Given the description of an element on the screen output the (x, y) to click on. 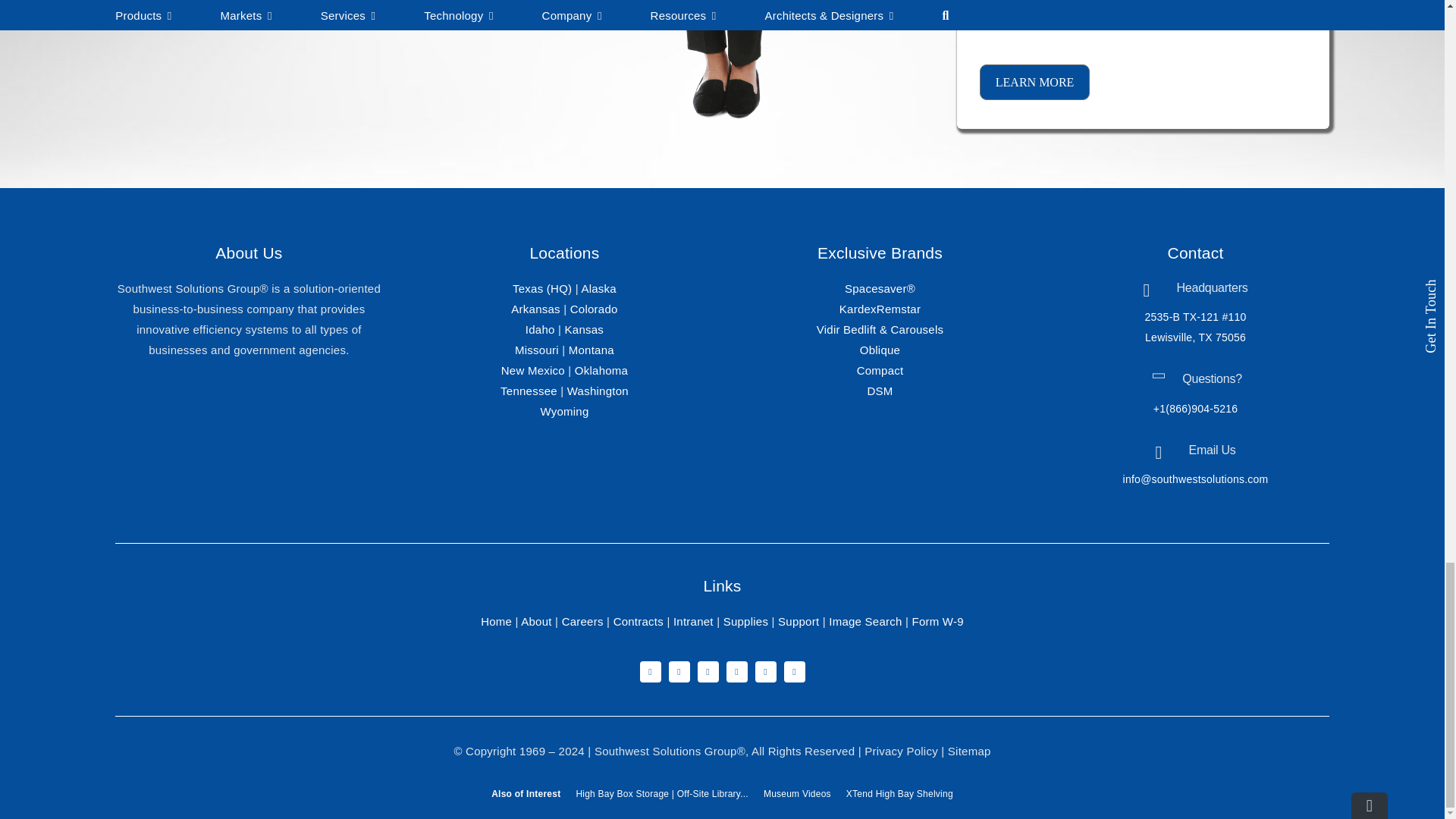
LEARN MORE (1034, 81)
